Given the description of an element on the screen output the (x, y) to click on. 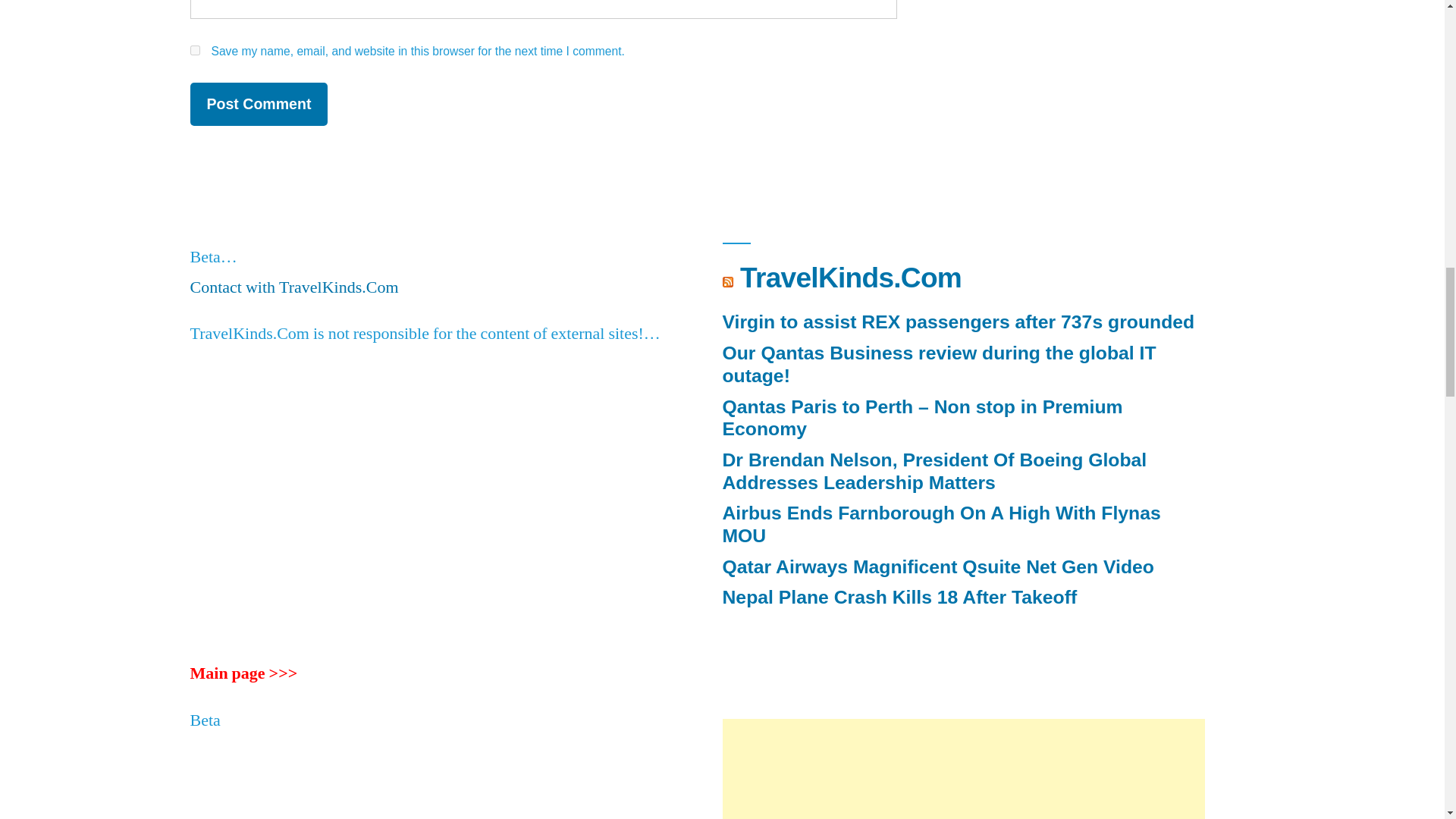
Qatar Airways Magnificent Qsuite Net Gen Video (937, 566)
Airbus Ends Farnborough On A High With Flynas MOU (941, 524)
Contact with TravelKinds.Com (293, 286)
Post Comment (258, 104)
Our Qantas Business review during the global IT outage! (939, 364)
Nepal Plane Crash Kills 18 After Takeoff (899, 597)
yes (194, 50)
Post Comment (258, 104)
Virgin to assist REX passengers after 737s grounded (957, 322)
